Given the description of an element on the screen output the (x, y) to click on. 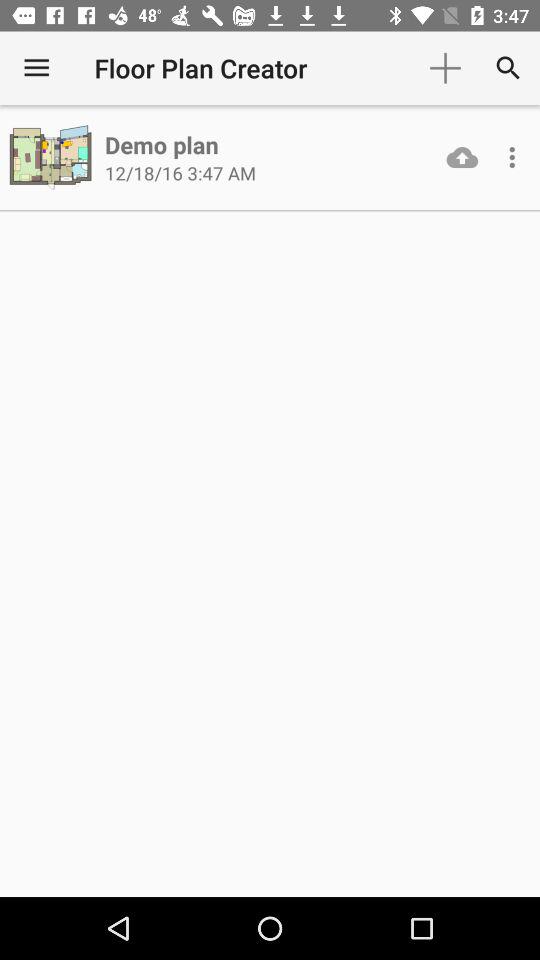
more (512, 157)
